Given the description of an element on the screen output the (x, y) to click on. 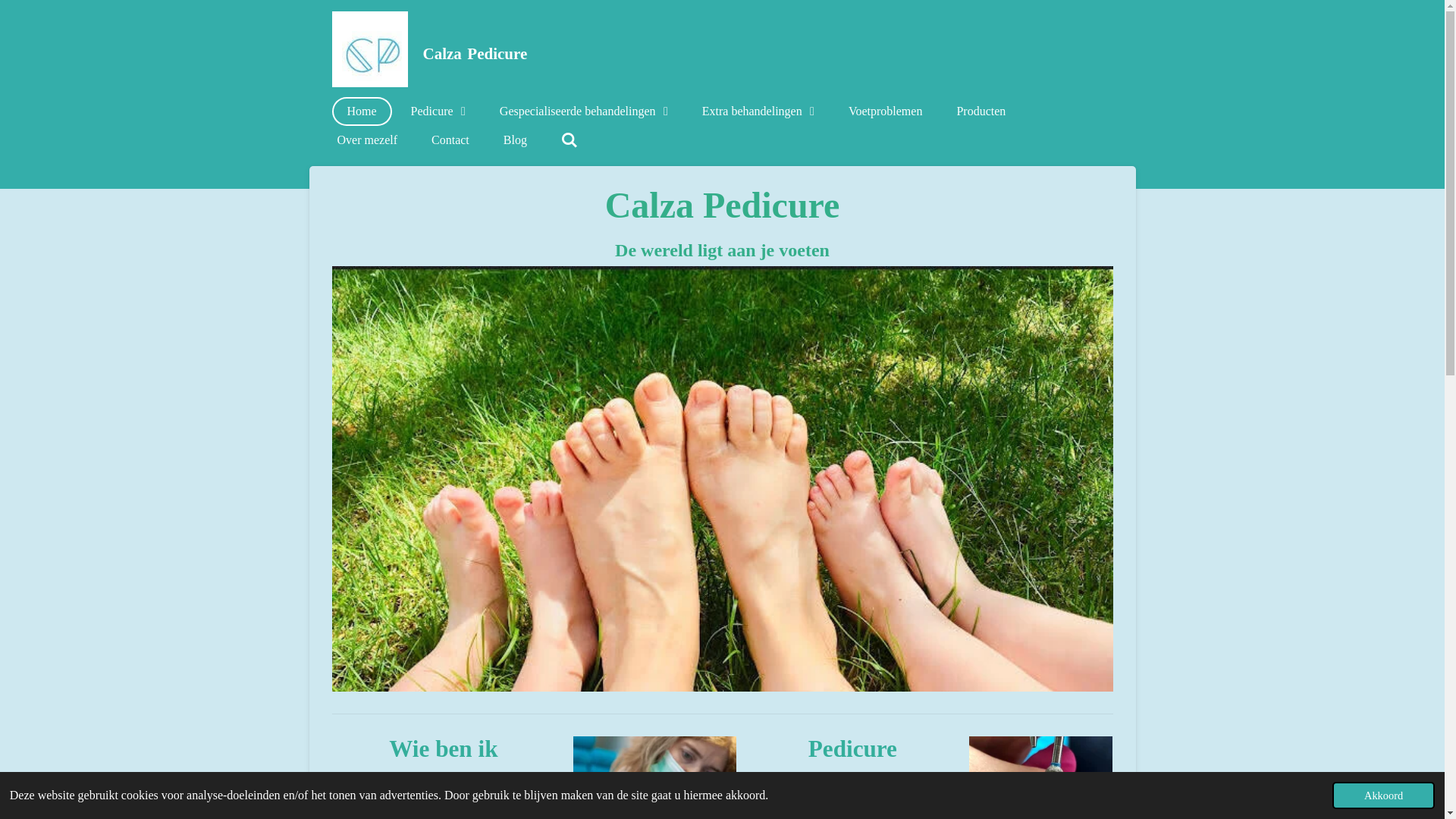
Over mezelf Element type: text (366, 139)
Over mezelf Element type: text (443, 778)
Producten Element type: text (980, 111)
Gespecialiseerde voetverzorging Element type: text (852, 803)
Pedicure Element type: text (437, 111)
Gespecialiseerde behandelingen Element type: text (583, 111)
Contact Element type: text (450, 139)
Standaard voetverzorging Element type: text (852, 778)
Blog Element type: text (515, 139)
Akkoord Element type: text (1383, 795)
Voetproblemen Element type: text (885, 111)
Extra behandelingen Element type: text (758, 111)
Calza Pedicure Element type: hover (369, 49)
Home Element type: text (362, 111)
Zoeken Element type: hover (569, 139)
